Given the description of an element on the screen output the (x, y) to click on. 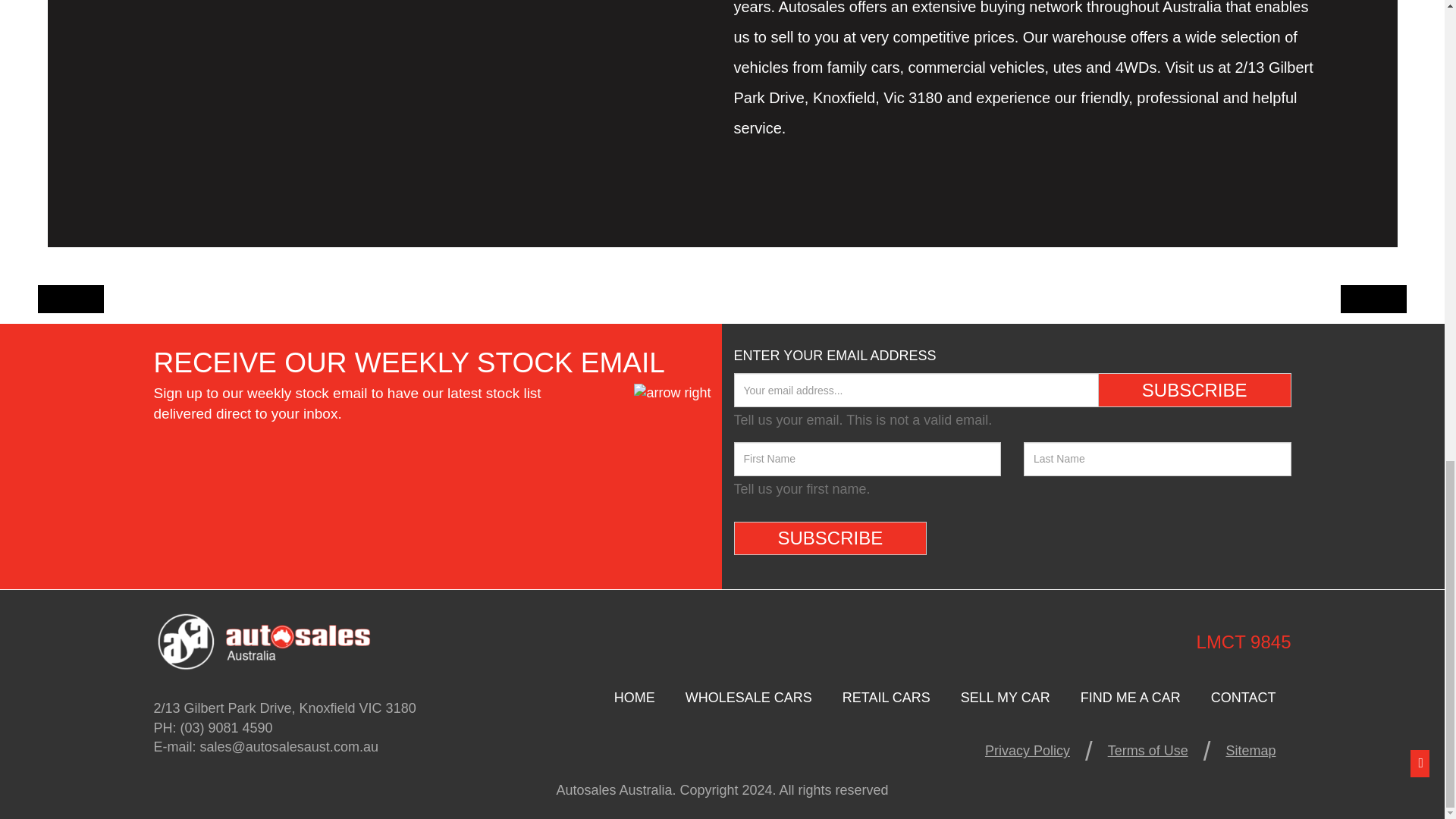
WHOLESALE CARS (748, 697)
Sitemap (1249, 750)
SUBSCRIBE (830, 538)
SUBSCRIBE (1194, 390)
CONTACT (1243, 697)
SELL MY CAR (1004, 697)
Terms of Use (1148, 750)
HOME (633, 697)
RETAIL CARS (885, 697)
FIND ME A CAR (1130, 697)
Privacy Policy (1026, 750)
